Given the description of an element on the screen output the (x, y) to click on. 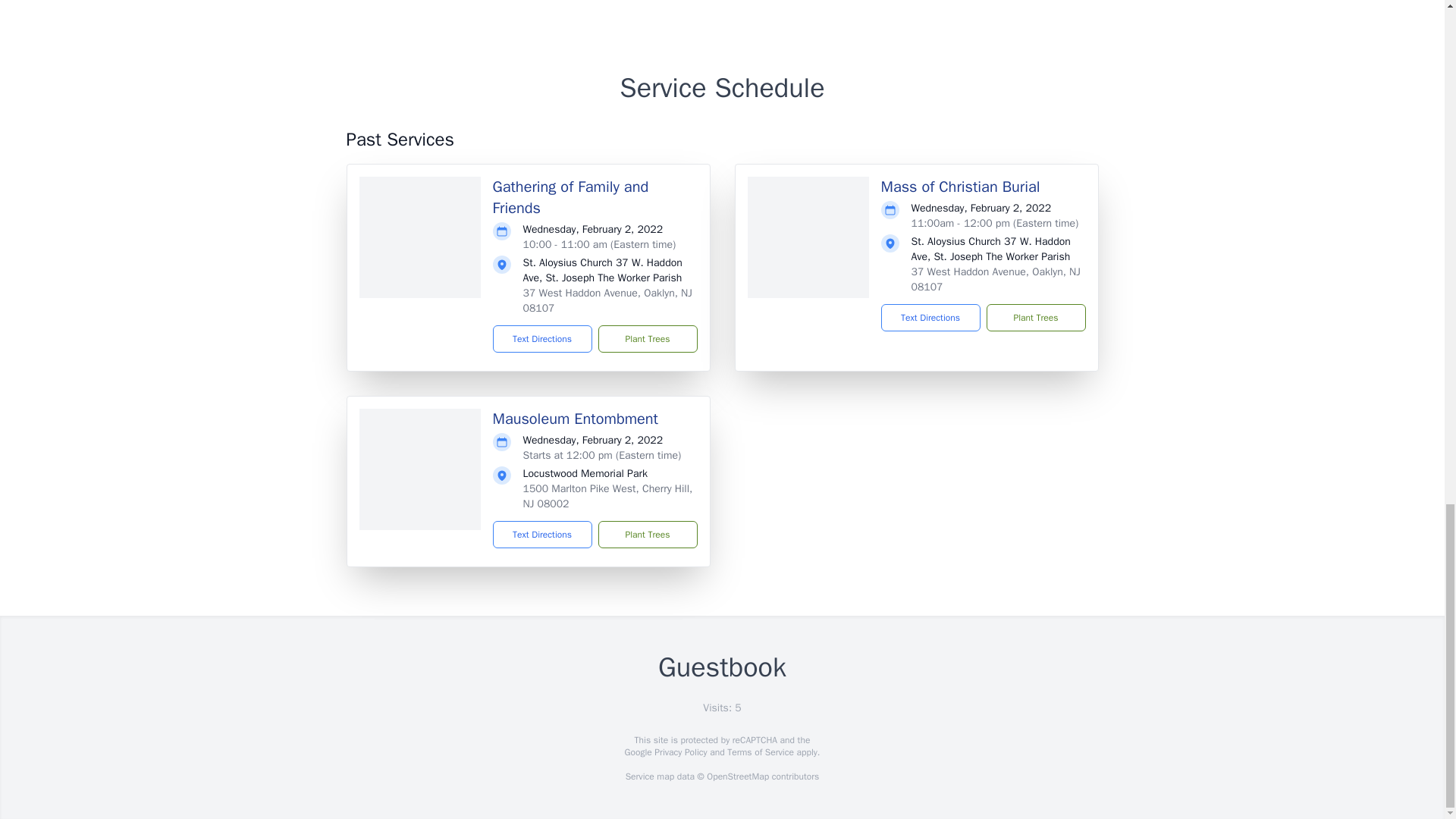
Text Directions (542, 338)
Plant Trees (1034, 317)
OpenStreetMap (737, 776)
Plant Trees (646, 338)
1500 Marlton Pike West, Cherry Hill, NJ 08002 (607, 496)
37 West Haddon Avenue, Oaklyn, NJ 08107 (607, 300)
Text Directions (929, 317)
Terms of Service (759, 752)
Plant Trees (646, 533)
Privacy Policy (679, 752)
